Given the description of an element on the screen output the (x, y) to click on. 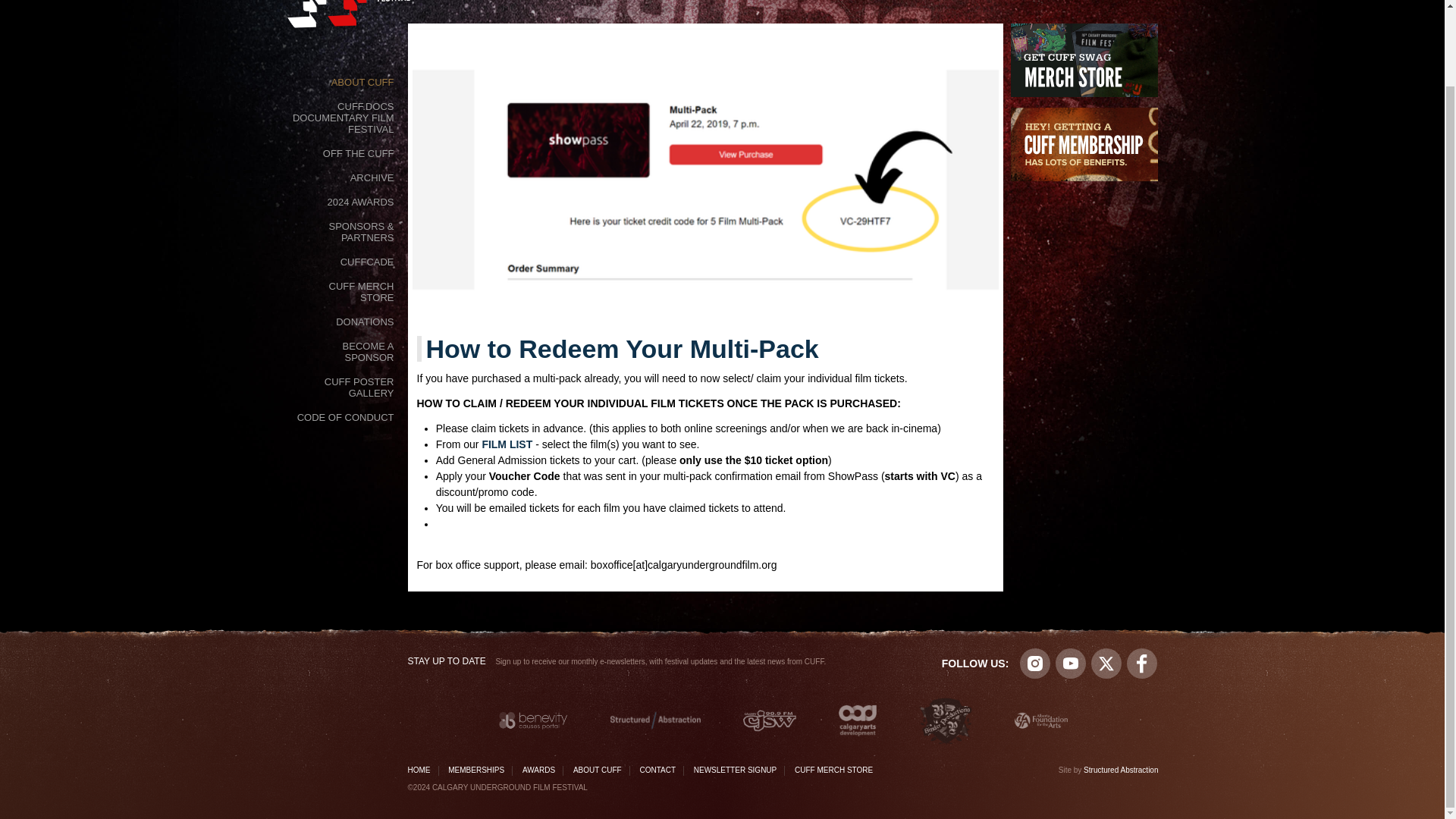
Visit us on Facebook (1141, 663)
DONATIONS (364, 320)
BECOME A SPONSOR (343, 350)
youtube (1070, 663)
CUFF.DOCS DOCUMENTARY FILM FESTIVAL (343, 116)
Instagram (1034, 663)
CUFF MERCH STORE (343, 290)
Visit us on Twitter (1105, 663)
FILM LIST (506, 444)
The Calgary Underground Film Festival (358, 17)
CUFF POSTER GALLERY (343, 386)
CODE OF CONDUCT (345, 415)
Back to home (358, 17)
ARCHIVE (371, 176)
